Given the description of an element on the screen output the (x, y) to click on. 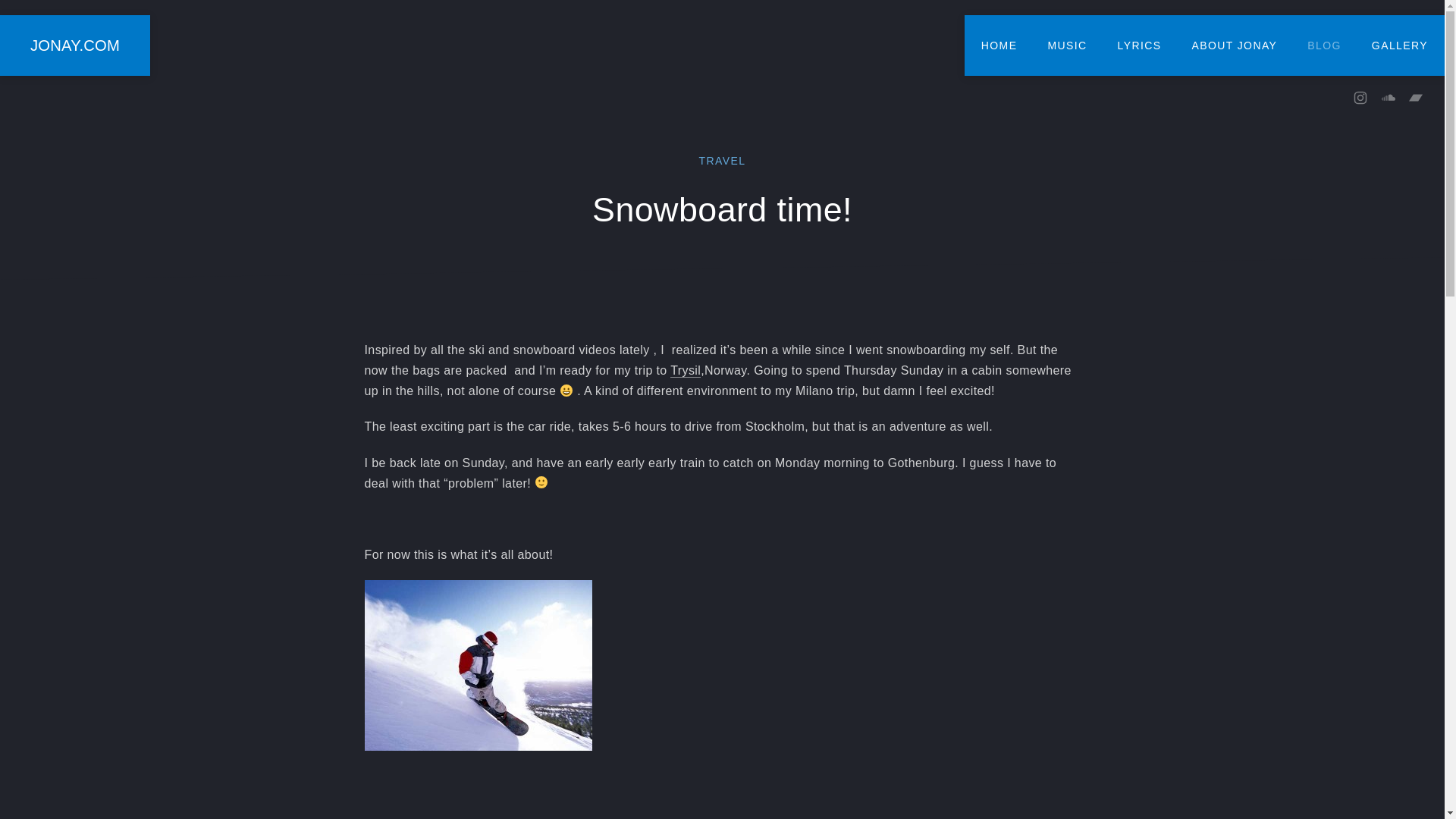
LYRICS (1139, 45)
BLOG (1324, 45)
TRAVEL (721, 160)
Trysil (477, 665)
View all posts in Travel (721, 160)
MUSIC (1067, 45)
GALLERY (1399, 45)
Trysil (684, 370)
JONAY.COM (74, 45)
ABOUT JONAY (1234, 45)
